Given the description of an element on the screen output the (x, y) to click on. 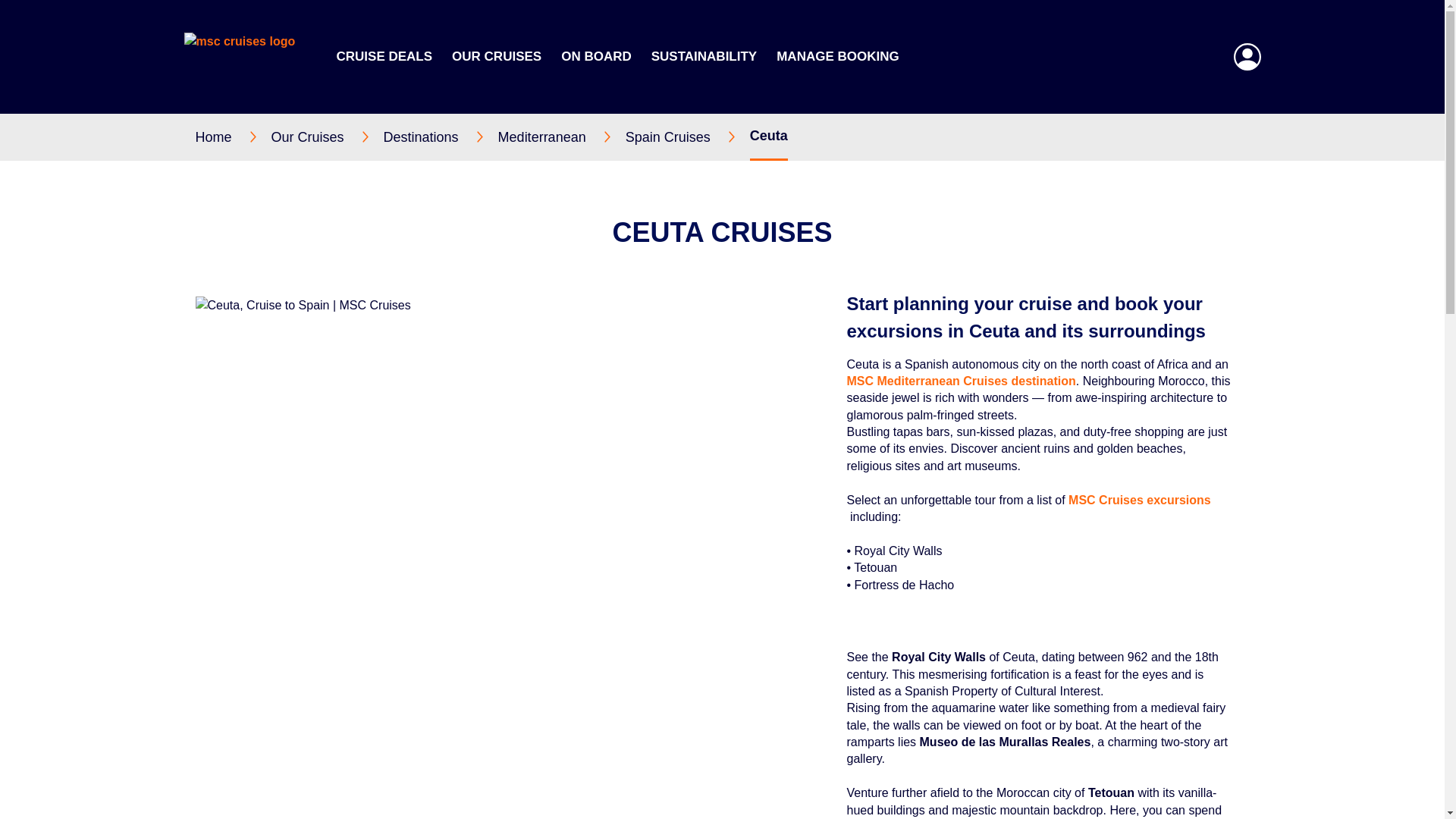
Search (1071, 155)
msc cruises logo (250, 56)
Destinations (440, 136)
Spain Cruises (687, 136)
CRUISE DEALS (384, 56)
SUSTAINABILITY (703, 56)
OUR CRUISES (496, 56)
Home (232, 136)
Our Cruises (327, 136)
MANAGE BOOKING (837, 56)
ON BOARD (595, 56)
Mediterranean (561, 136)
